Given the description of an element on the screen output the (x, y) to click on. 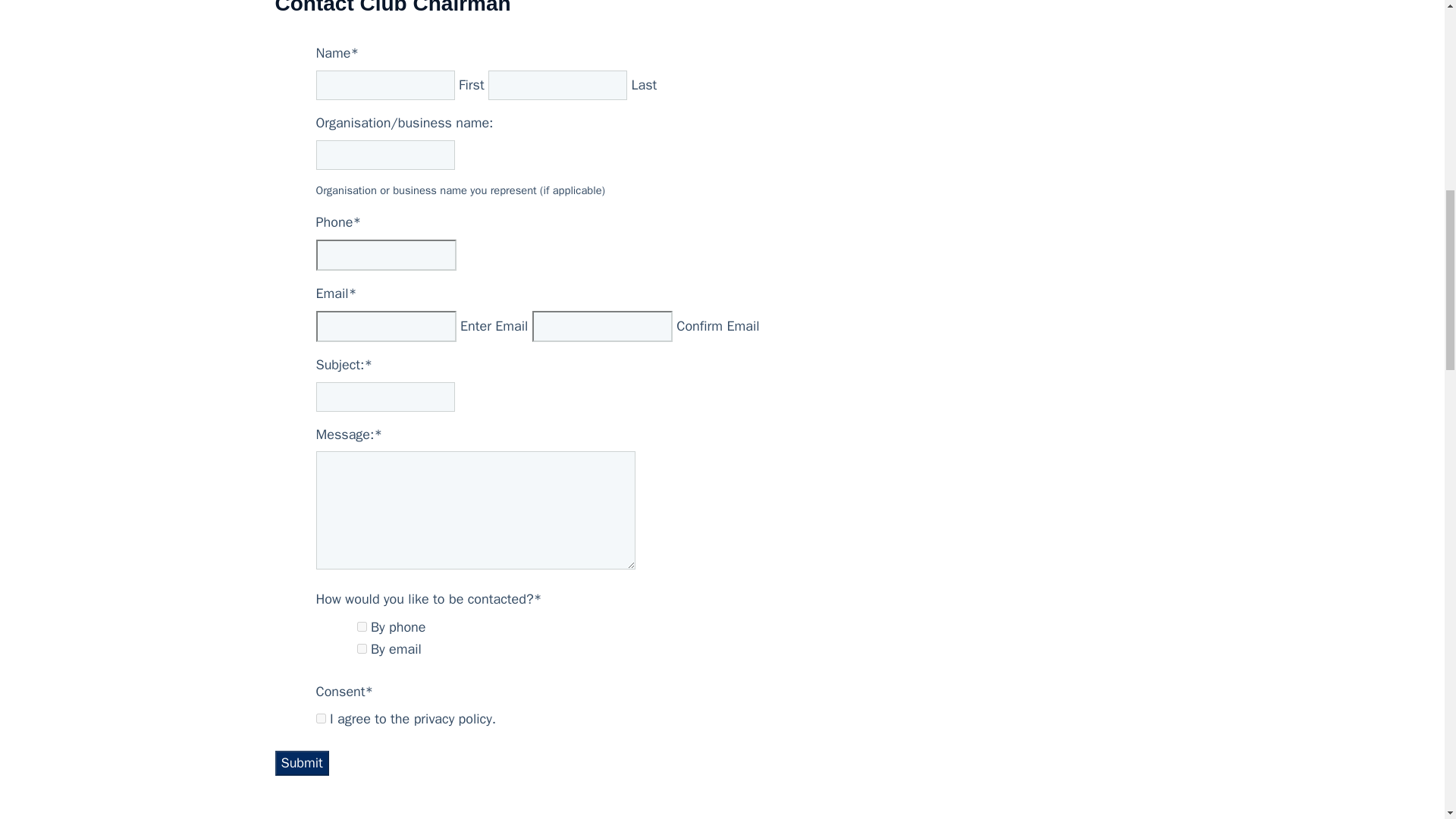
Submit (302, 763)
By email (361, 648)
Scroll back to top (1406, 720)
1 (319, 718)
By phone (361, 626)
